Given the description of an element on the screen output the (x, y) to click on. 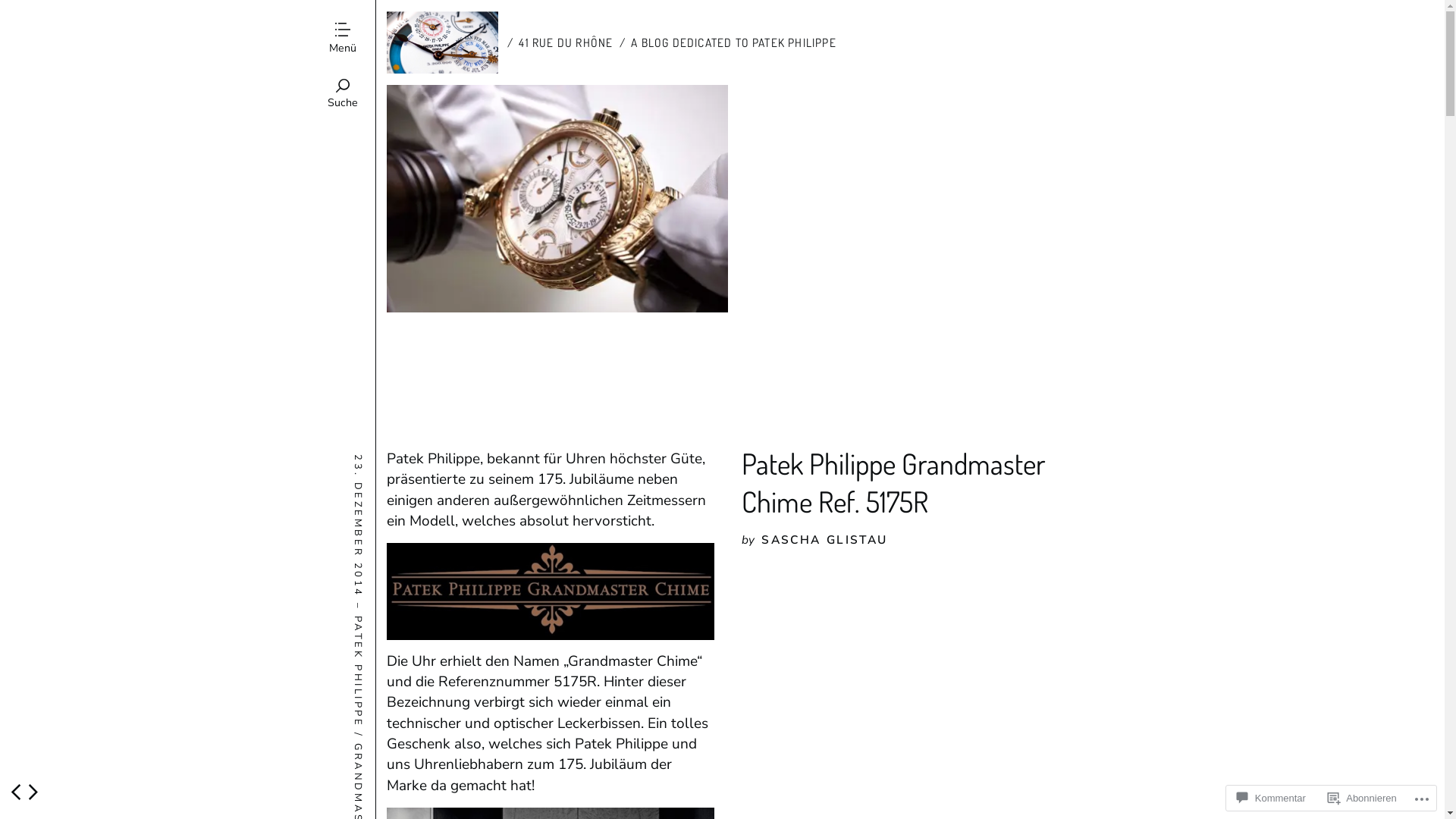
SASCHA GLISTAU Element type: text (824, 539)
Abonnieren Element type: text (1361, 797)
PATEK PHILIPPE Element type: text (407, 622)
GRANDMASTER CHIME Element type: text (429, 749)
Kommentar Element type: text (1270, 797)
Suche Element type: text (342, 94)
